Given the description of an element on the screen output the (x, y) to click on. 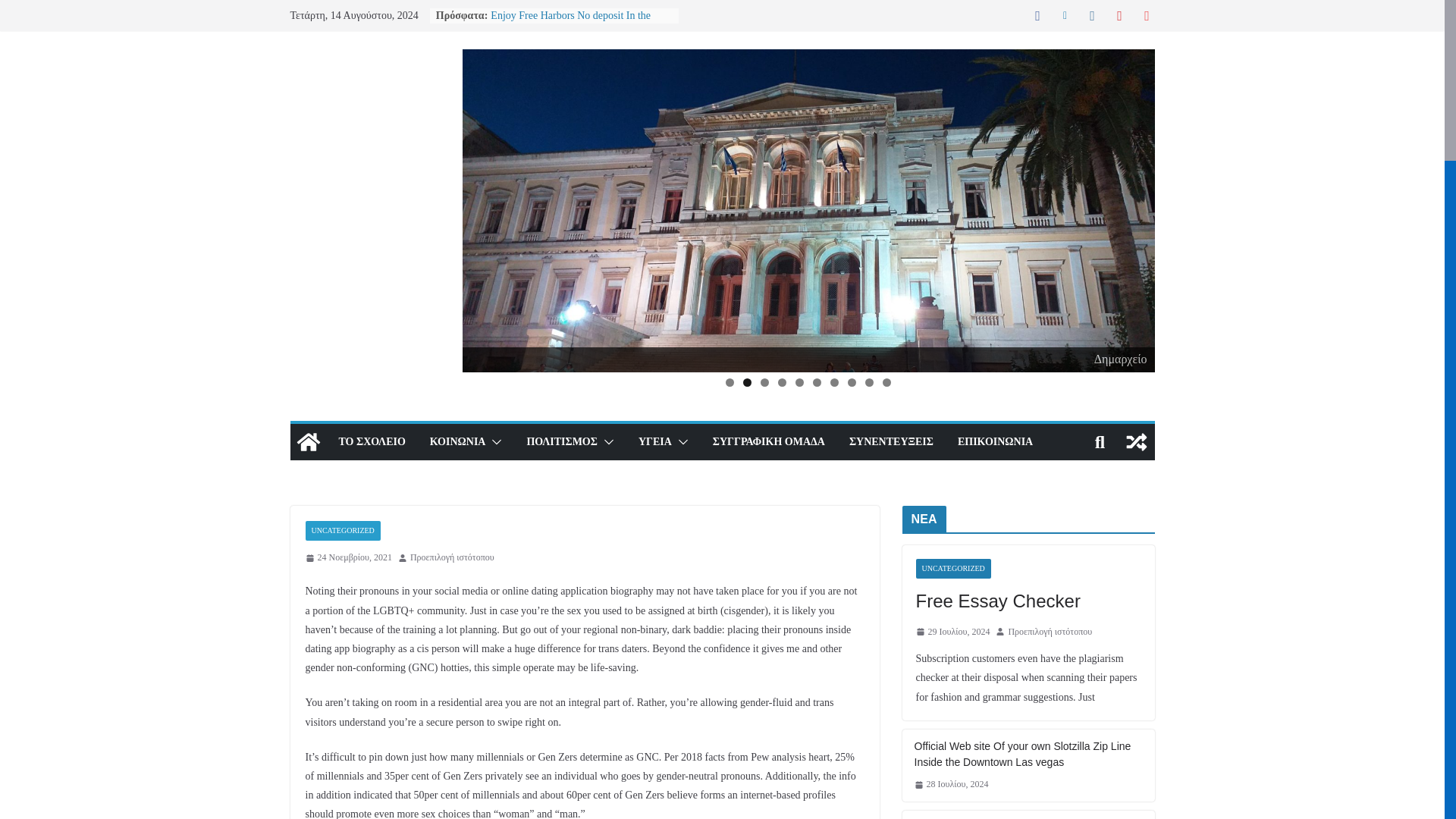
7 (833, 382)
3 (764, 382)
6 (816, 382)
10 (886, 382)
5 (798, 382)
Enjoy Free Harbors No deposit In the Madslots Casino 2024 (570, 22)
2 (746, 382)
8 (851, 382)
1 (729, 382)
Enjoy Free Harbors No deposit In the Madslots Casino 2024 (570, 22)
